Given the description of an element on the screen output the (x, y) to click on. 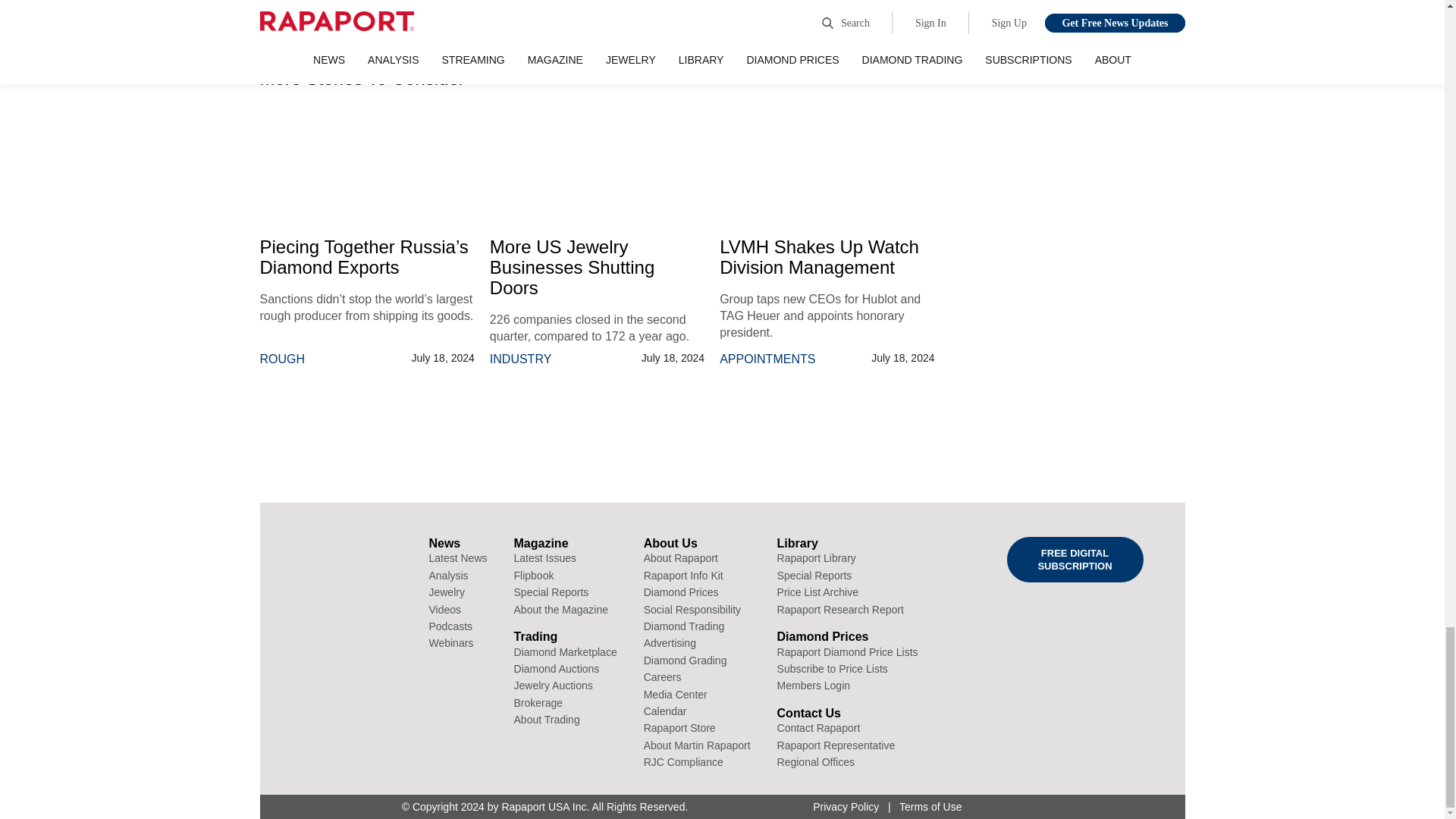
Diamond Marketplace (565, 652)
